Given the description of an element on the screen output the (x, y) to click on. 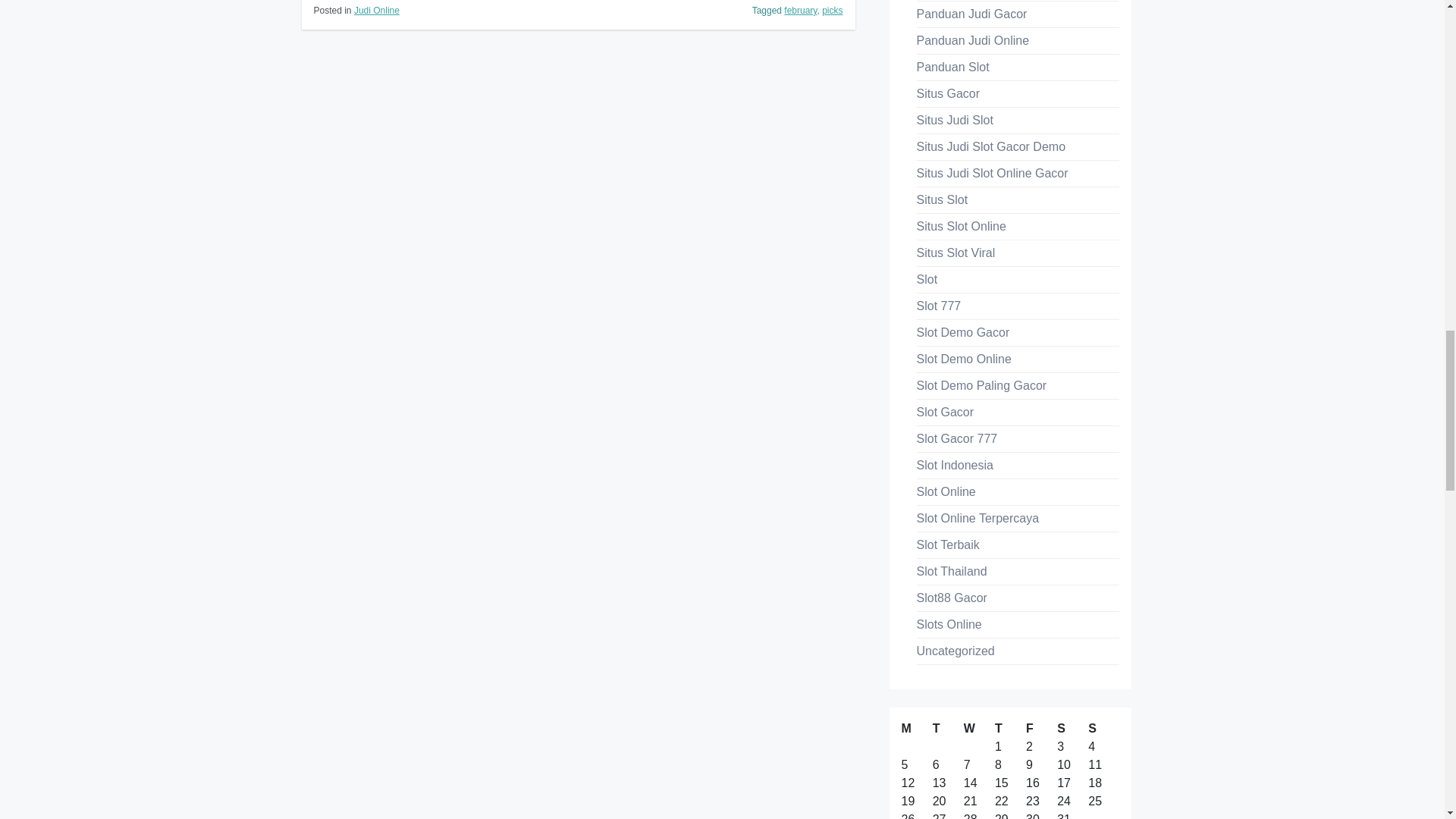
Saturday (1072, 728)
Friday (1041, 728)
Monday (916, 728)
Judi Online (375, 9)
Tuesday (948, 728)
picks (832, 9)
Thursday (1010, 728)
february (800, 9)
Sunday (1103, 728)
Wednesday (978, 728)
